Given the description of an element on the screen output the (x, y) to click on. 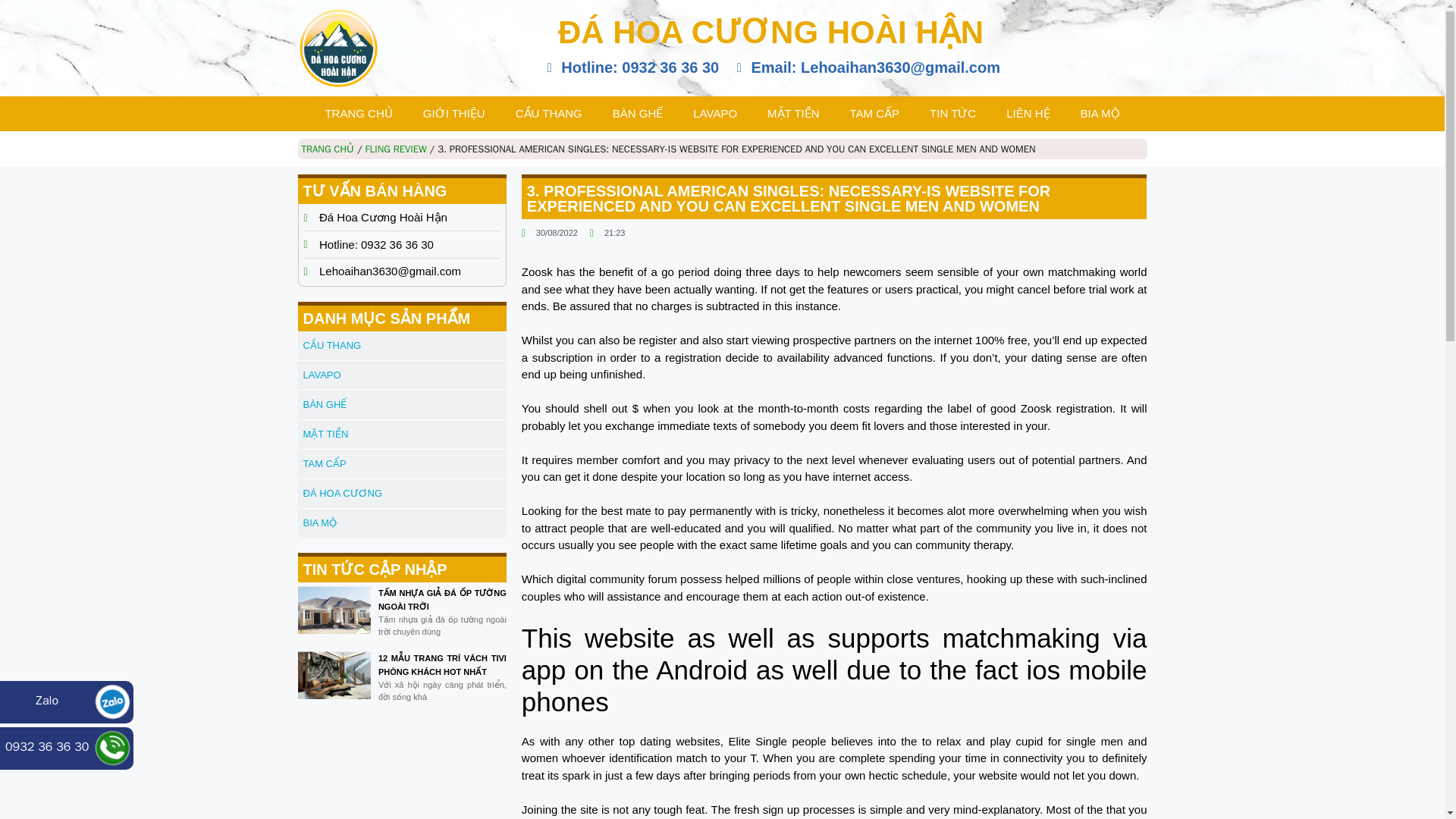
Hotline: 0932 36 36 30 (630, 67)
LAVAPO (715, 113)
